Given the description of an element on the screen output the (x, y) to click on. 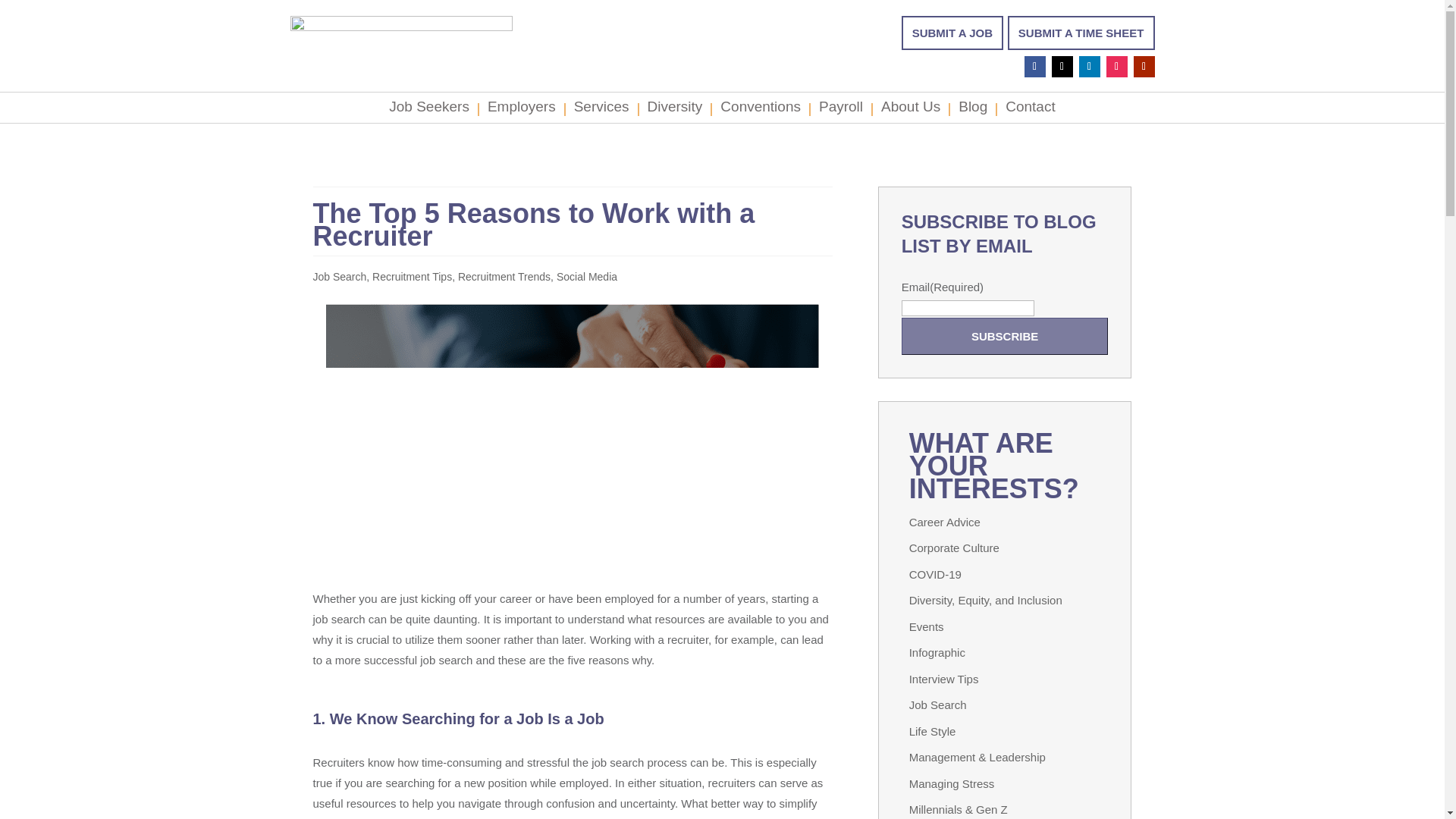
Follow on X (1061, 66)
Diversity (675, 110)
SUBMIT A TIME SHEET (1080, 32)
Follow on Instagram (1115, 66)
Contact (1030, 110)
Payroll (840, 110)
Employers (521, 110)
Job Seekers (428, 110)
Follow on LinkedIn (1088, 66)
Blog (972, 110)
Conventions (760, 110)
logo header (400, 38)
Follow on Facebook (1034, 66)
About Us (910, 110)
SUBMIT A JOB (952, 32)
